Given the description of an element on the screen output the (x, y) to click on. 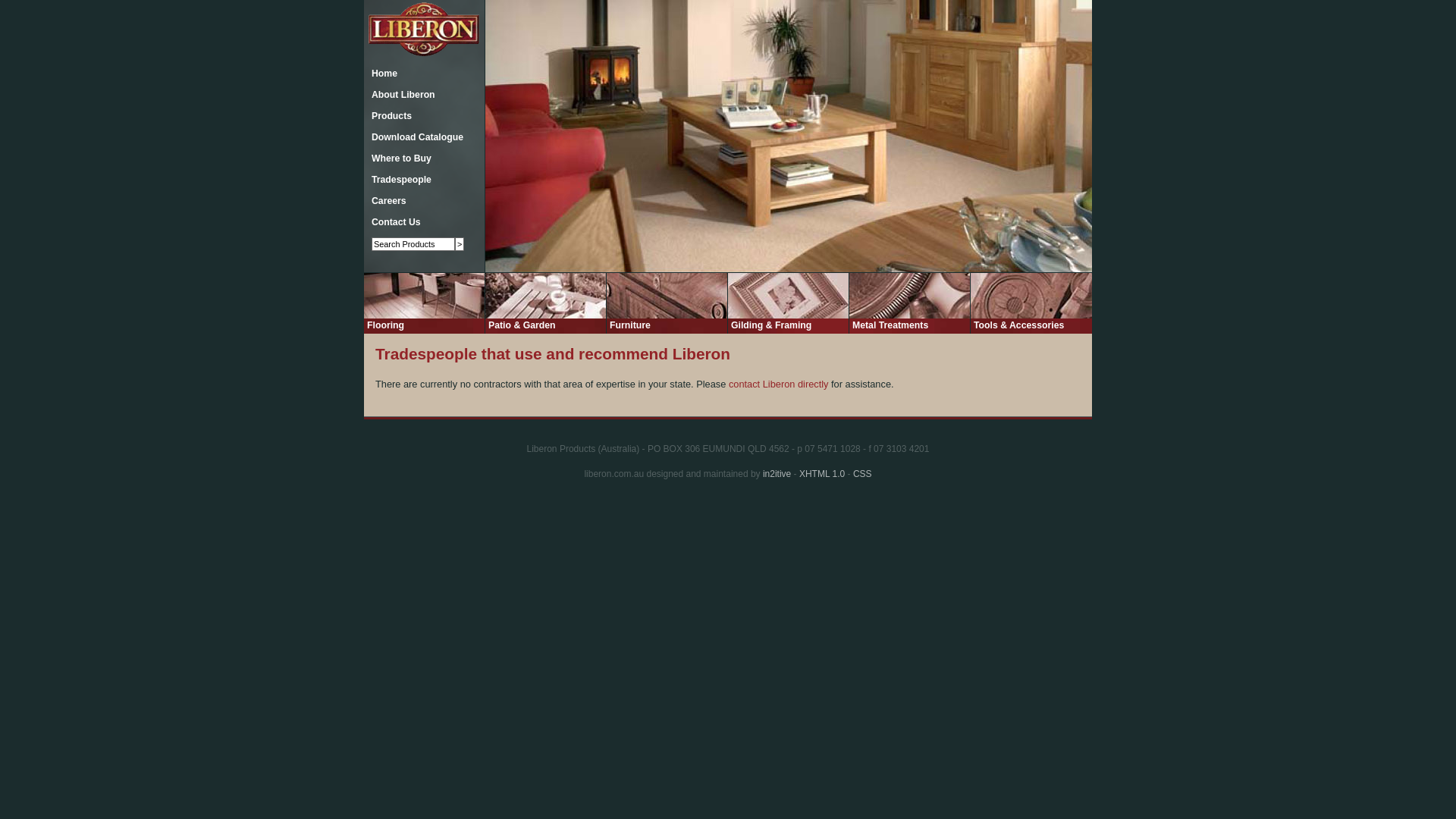
Products Element type: text (387, 115)
Contact Us Element type: text (392, 221)
Tradespeople Element type: text (397, 179)
contact Liberon directly Element type: text (778, 383)
Home Element type: text (380, 73)
Gilding & Framing Element type: text (771, 325)
CSS Element type: text (862, 473)
Flooring Element type: text (385, 325)
Tools & Accessories Element type: text (1018, 325)
Metal Treatments Element type: text (890, 325)
About Liberon Element type: text (399, 94)
Patio & Garden Element type: text (521, 325)
Where to Buy Element type: text (397, 158)
> Element type: text (459, 244)
Download Catalogue Element type: text (413, 136)
in2itive Element type: text (776, 473)
XHTML 1.0 Element type: text (821, 473)
Careers Element type: text (385, 200)
Furniture Element type: text (629, 325)
